Given the description of an element on the screen output the (x, y) to click on. 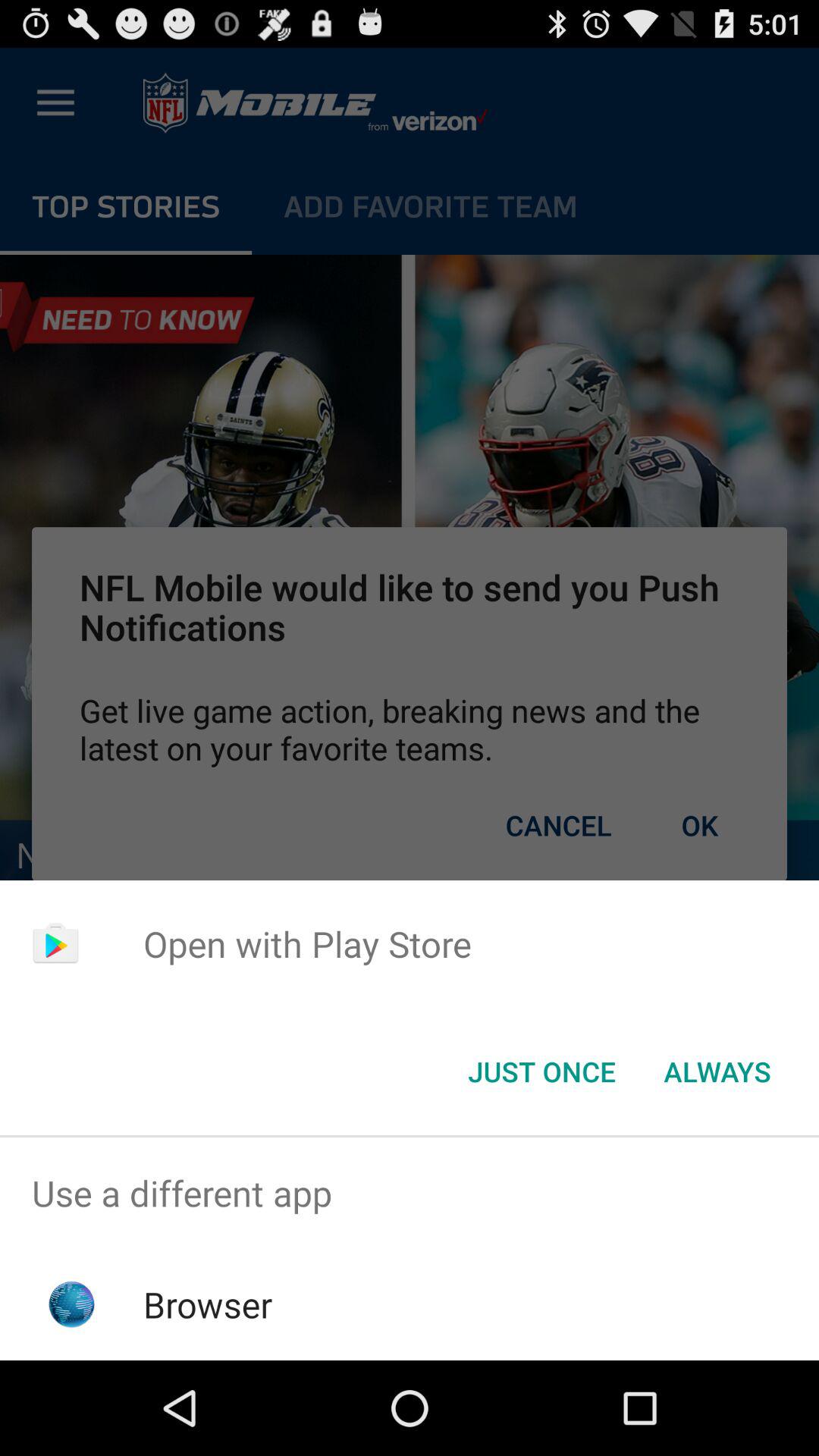
tap the icon next to the always button (541, 1071)
